Given the description of an element on the screen output the (x, y) to click on. 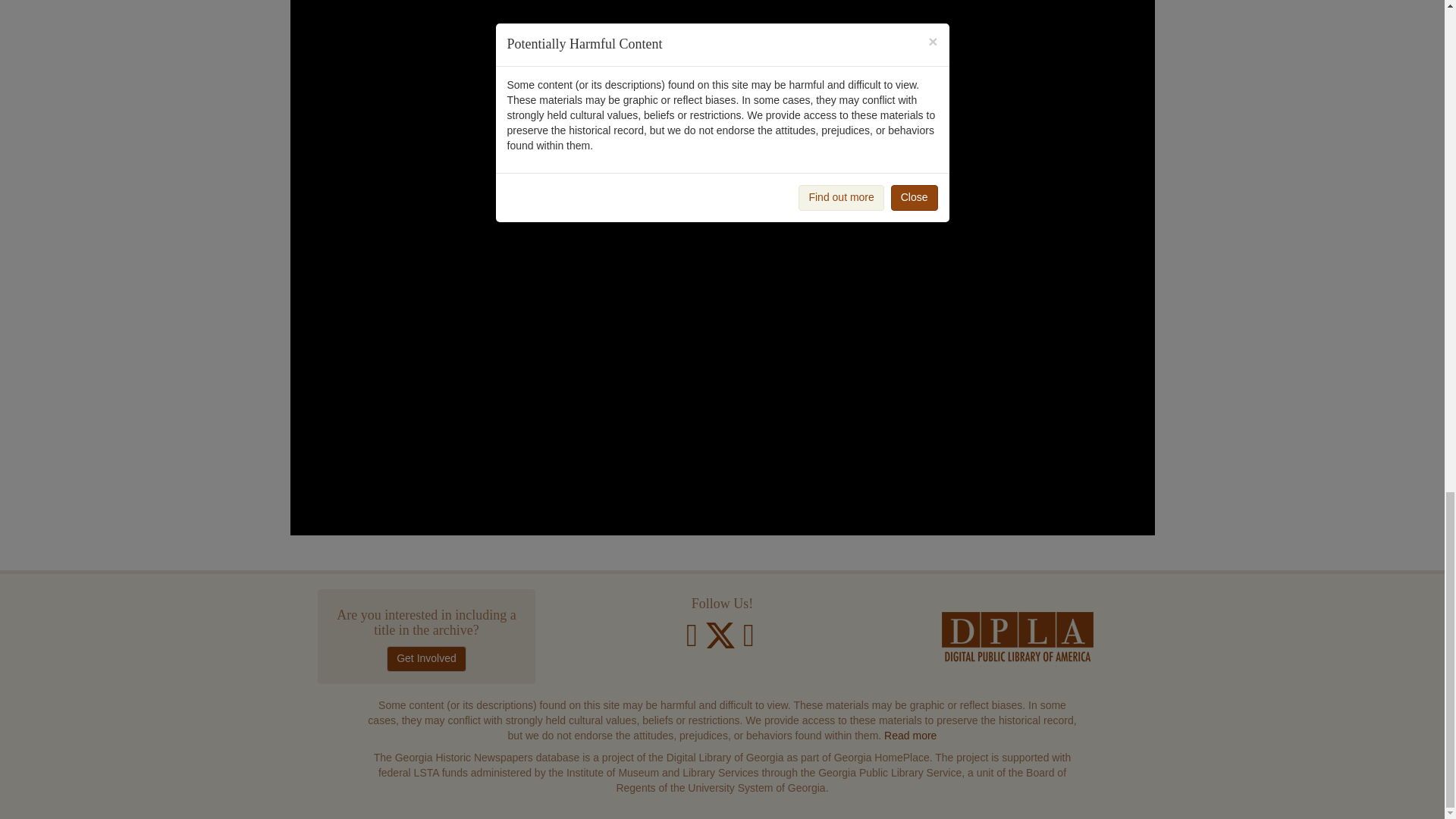
DLG Twitter Link (721, 642)
DLG Facebook Link (691, 642)
DPLA Link (1017, 638)
DLG Blog (748, 642)
